Given the description of an element on the screen output the (x, y) to click on. 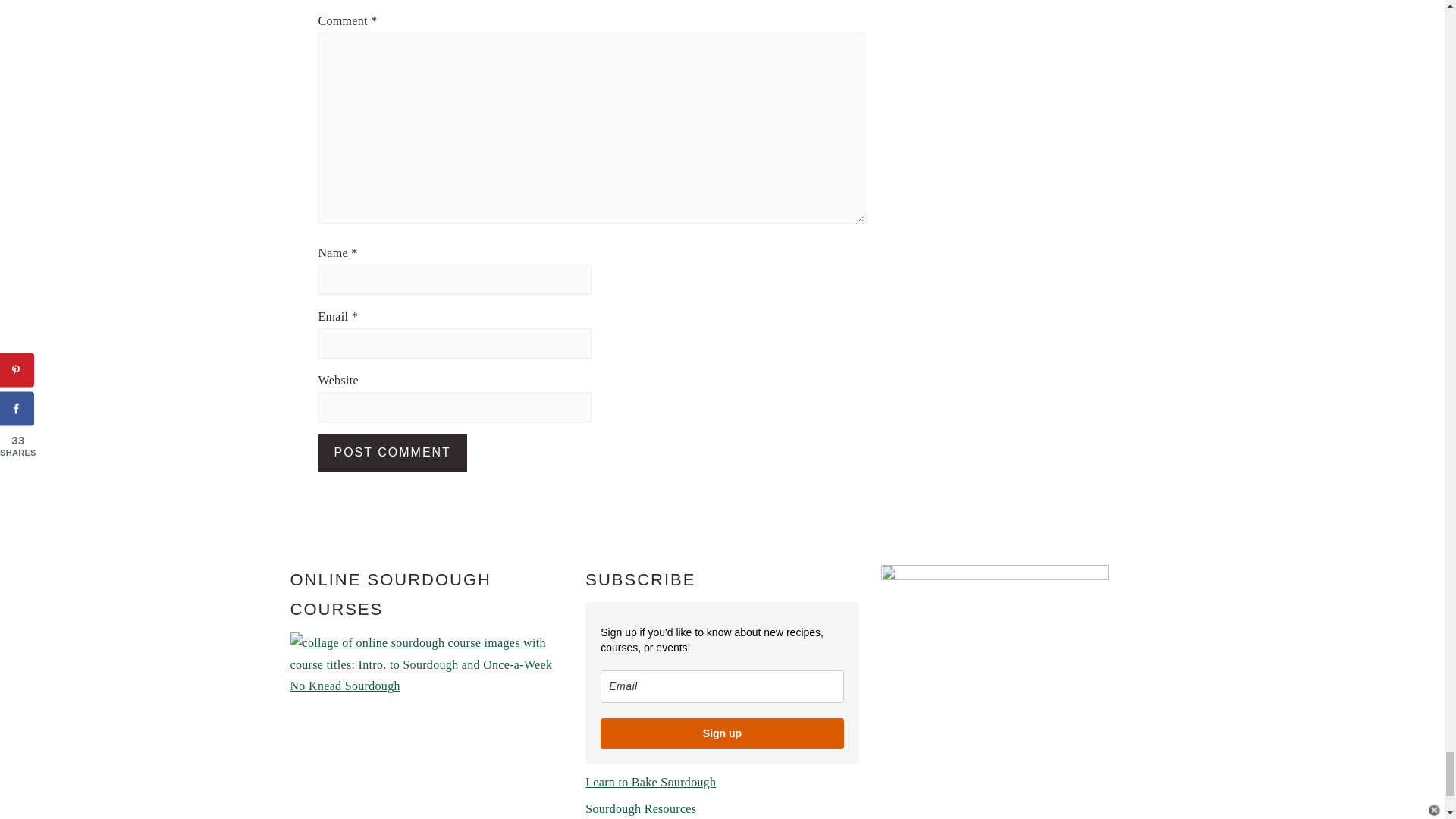
Post Comment (392, 452)
